Given the description of an element on the screen output the (x, y) to click on. 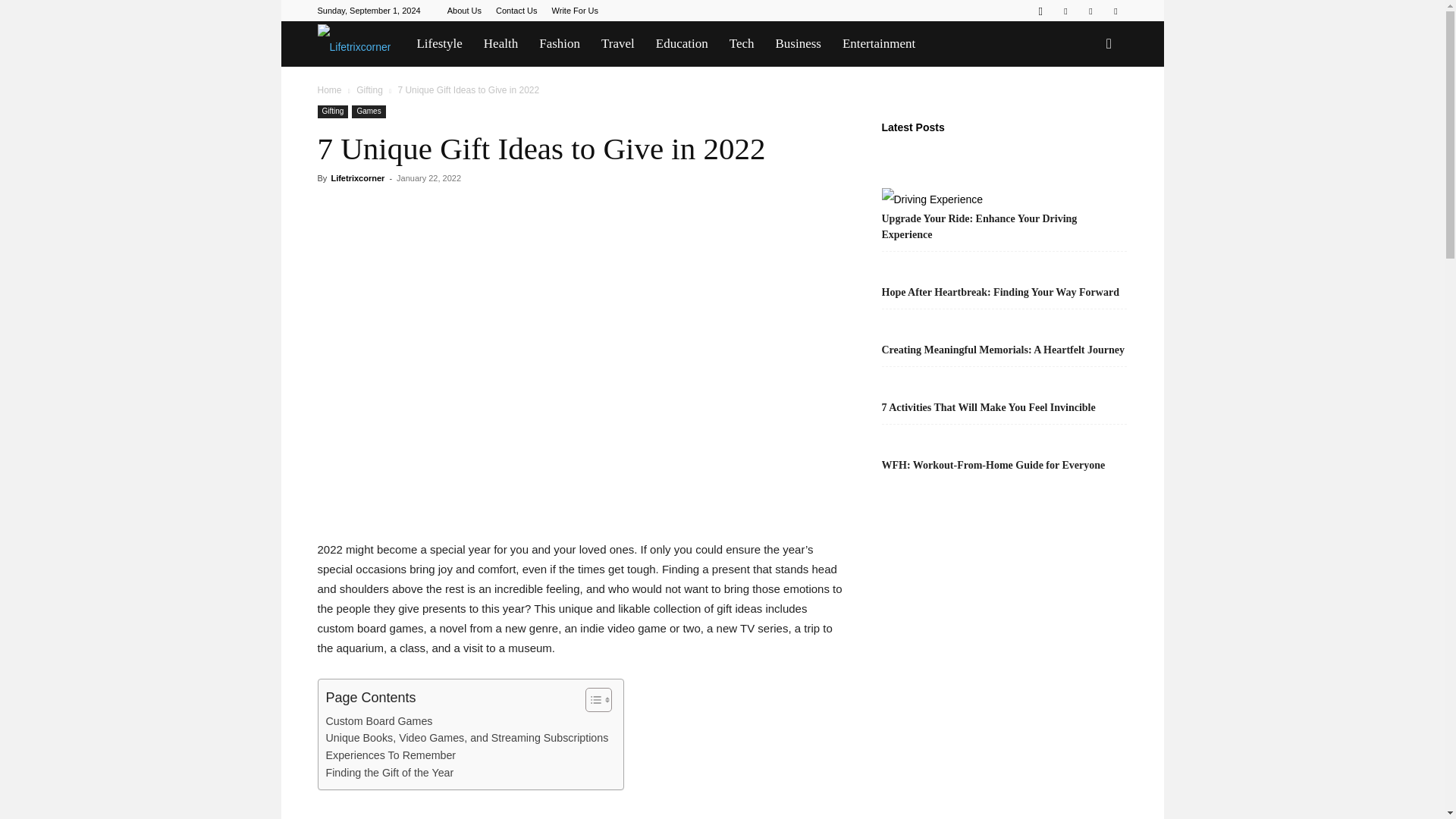
Write For Us (574, 10)
Pinterest (1065, 10)
Contact Us (516, 10)
Instagram (1040, 10)
Twitter (1090, 10)
Lifetrixcorner (353, 44)
About Us (463, 10)
Youtube (1114, 10)
